Given the description of an element on the screen output the (x, y) to click on. 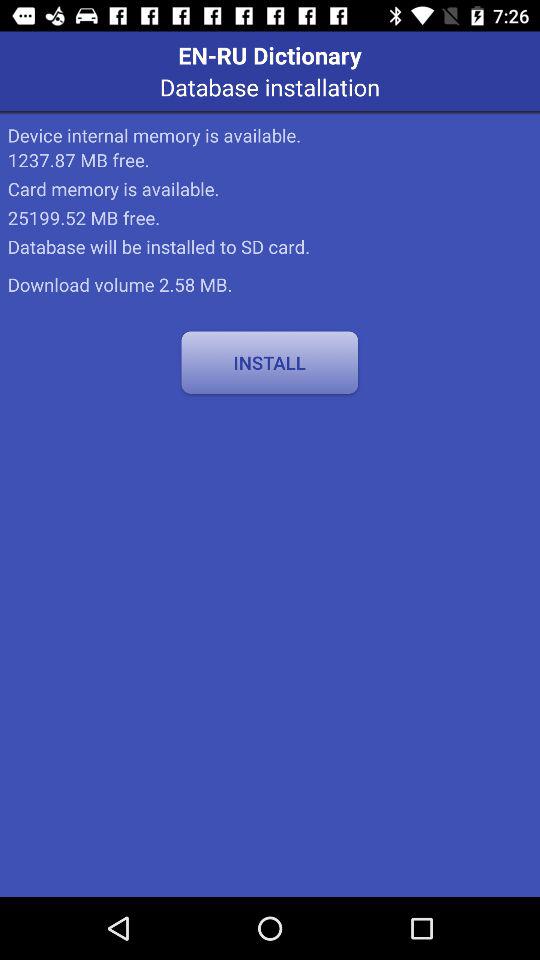
tap the install item (269, 362)
